Given the description of an element on the screen output the (x, y) to click on. 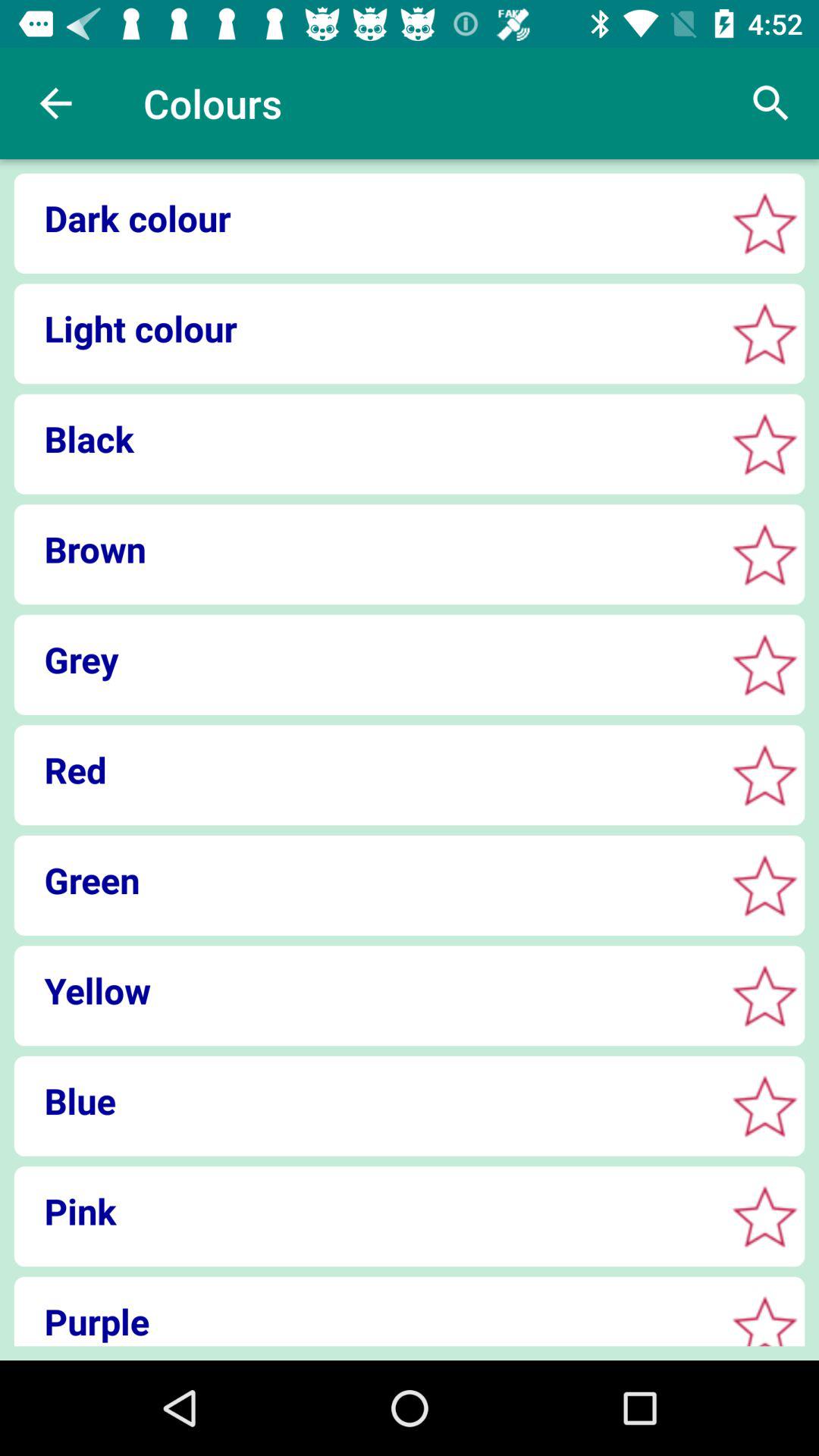
select item below pink item (364, 1321)
